Given the description of an element on the screen output the (x, y) to click on. 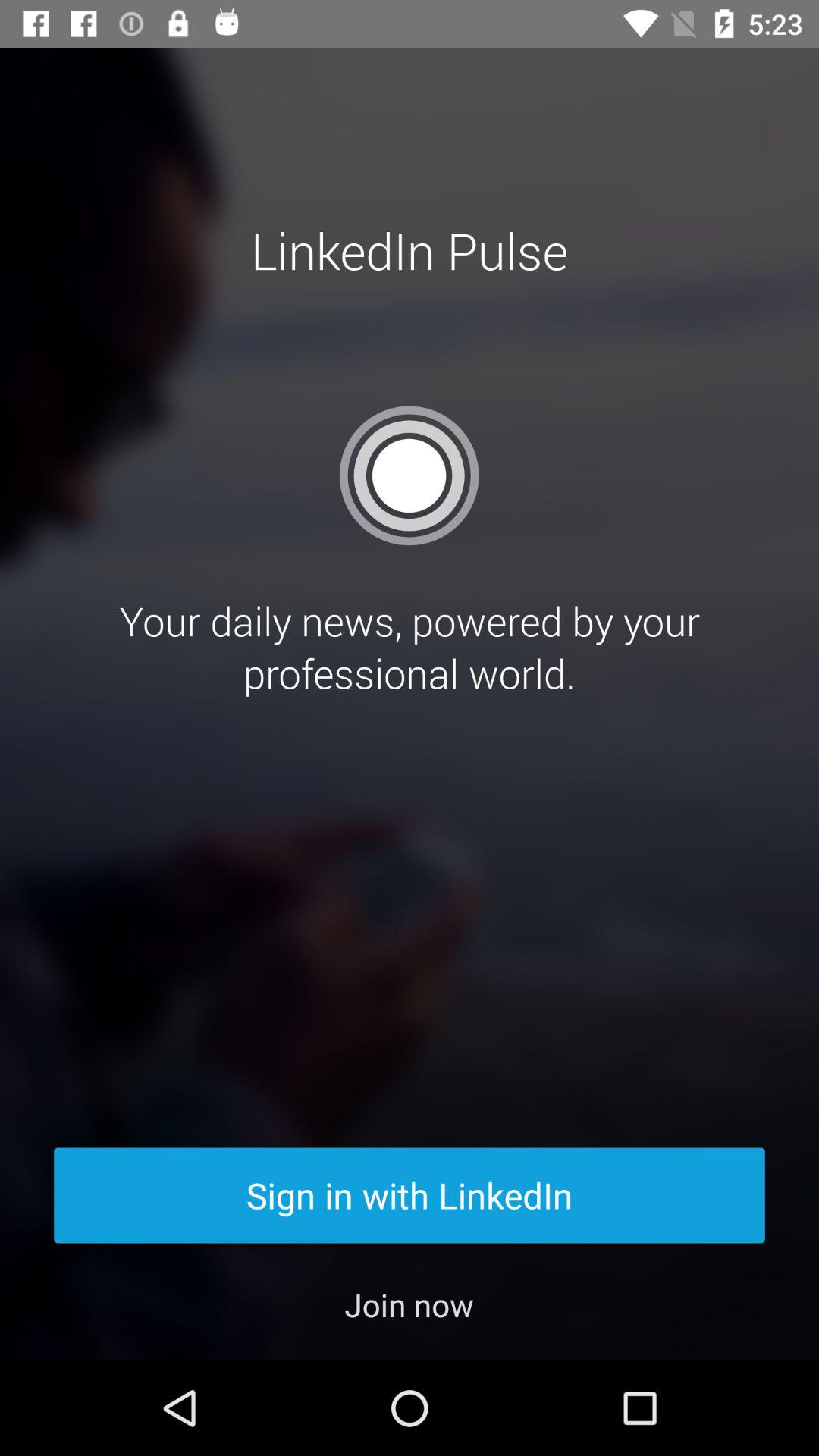
open item below the sign in with icon (408, 1304)
